Given the description of an element on the screen output the (x, y) to click on. 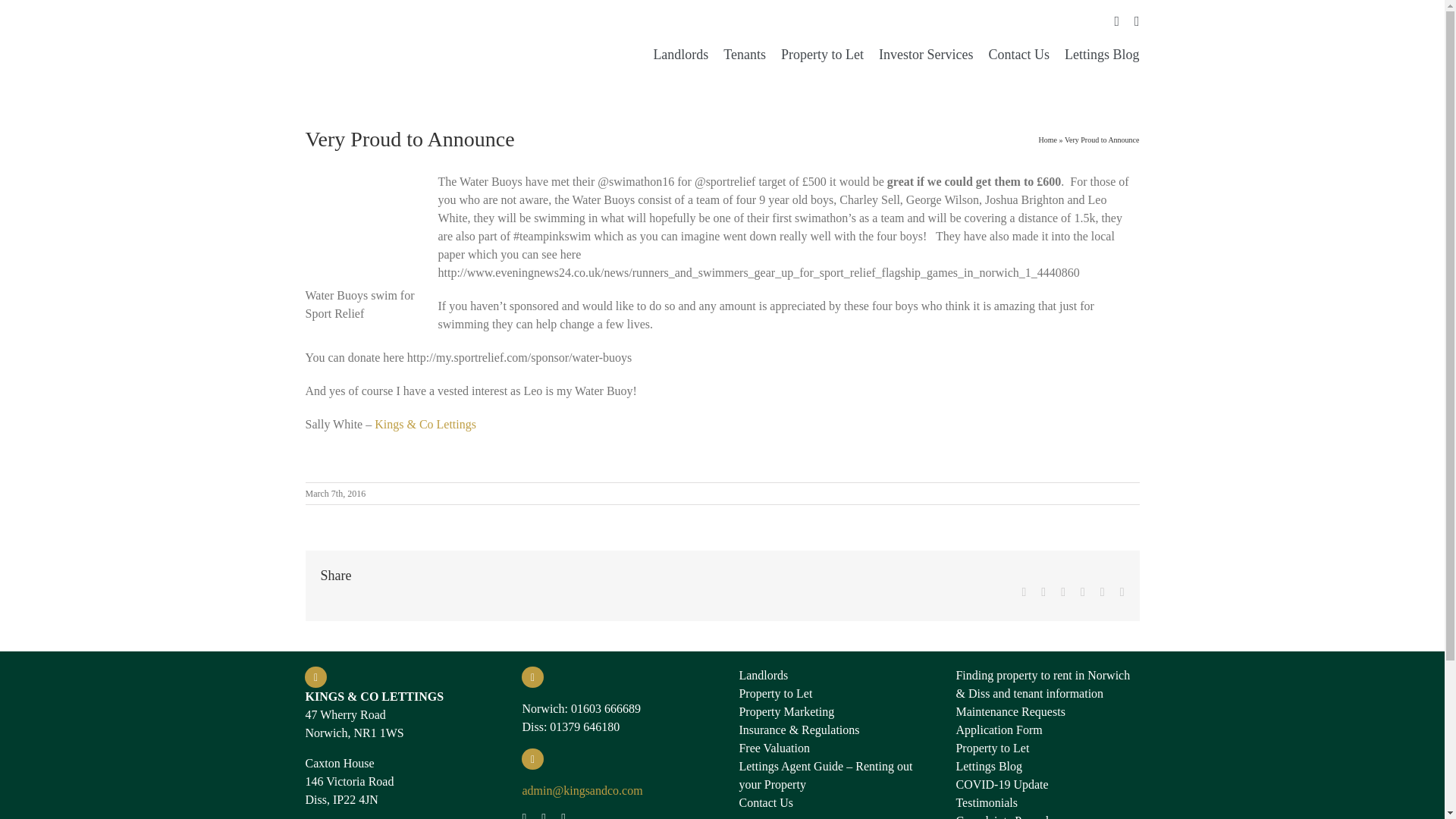
Property to Let (821, 54)
Lettings Blog (1046, 766)
Landlords (829, 675)
Investor Services (925, 54)
Property to Let (829, 693)
Application Form (1046, 730)
Contact Us (829, 802)
Property to Let (1046, 748)
Maintenance Requests (1046, 711)
Contact Us (1018, 54)
